Given the description of an element on the screen output the (x, y) to click on. 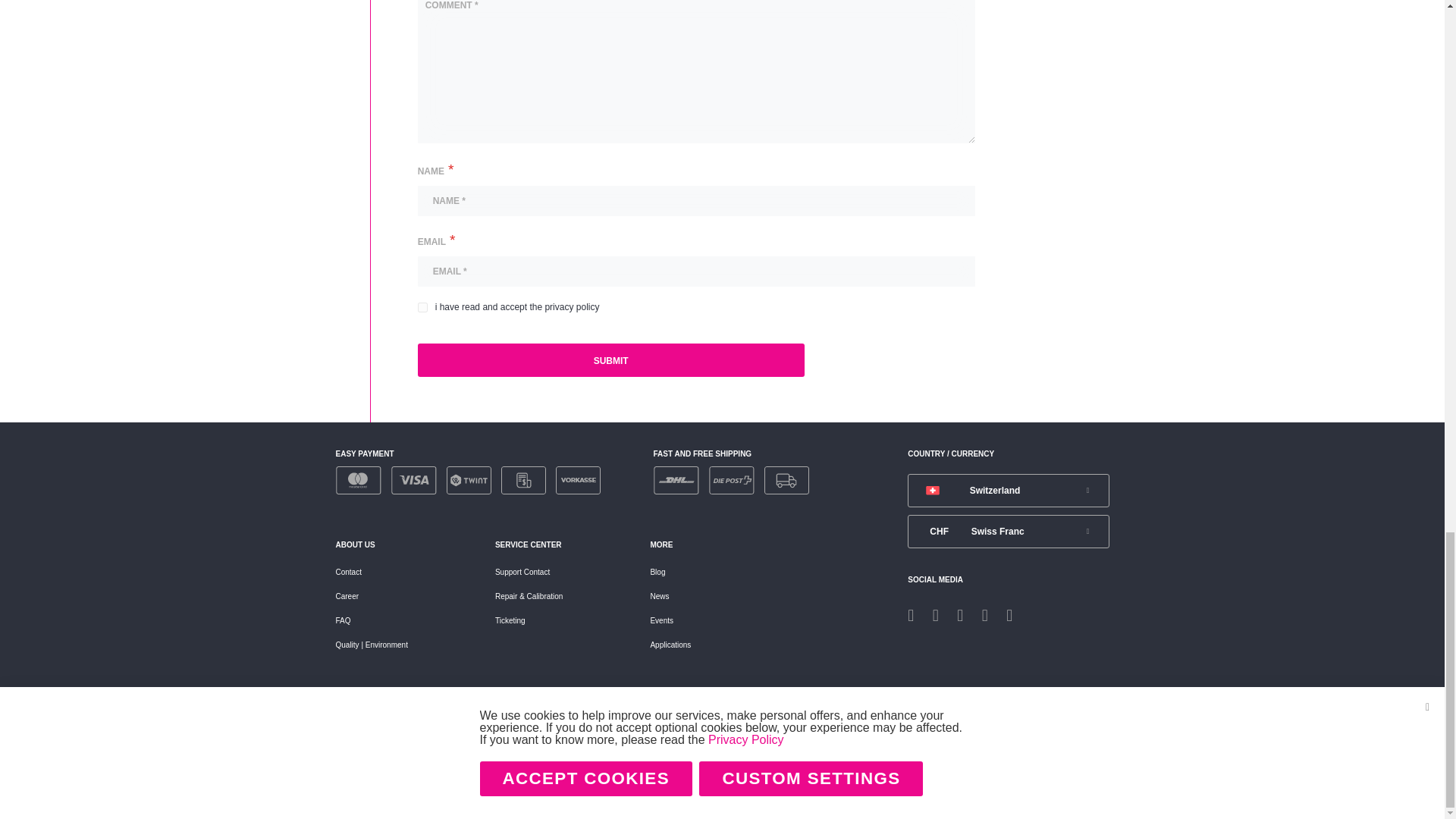
Email (696, 271)
Name (696, 200)
on (422, 307)
Submit (611, 359)
